Given the description of an element on the screen output the (x, y) to click on. 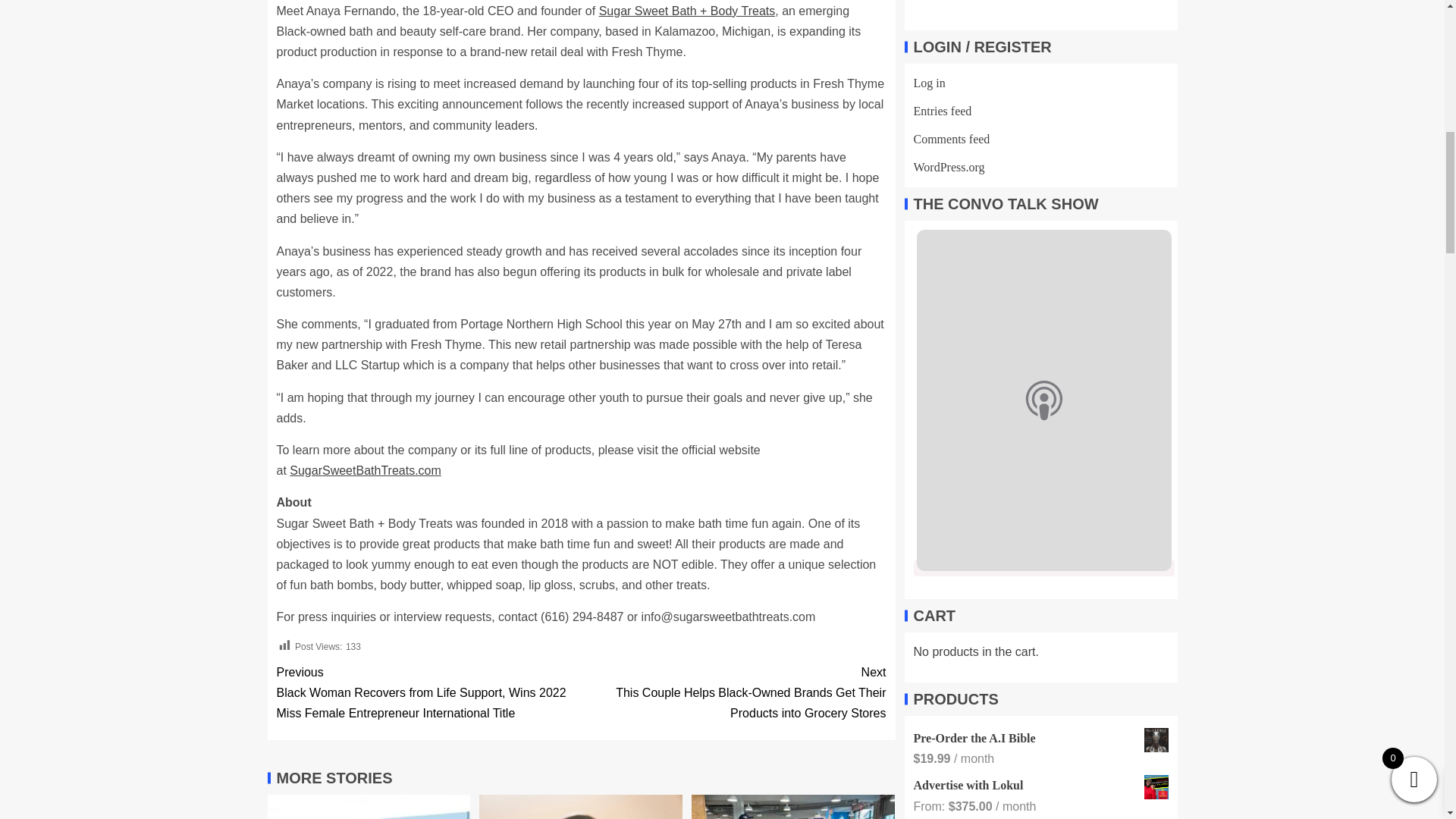
SugarSweetBathTreats.com (365, 470)
